Given the description of an element on the screen output the (x, y) to click on. 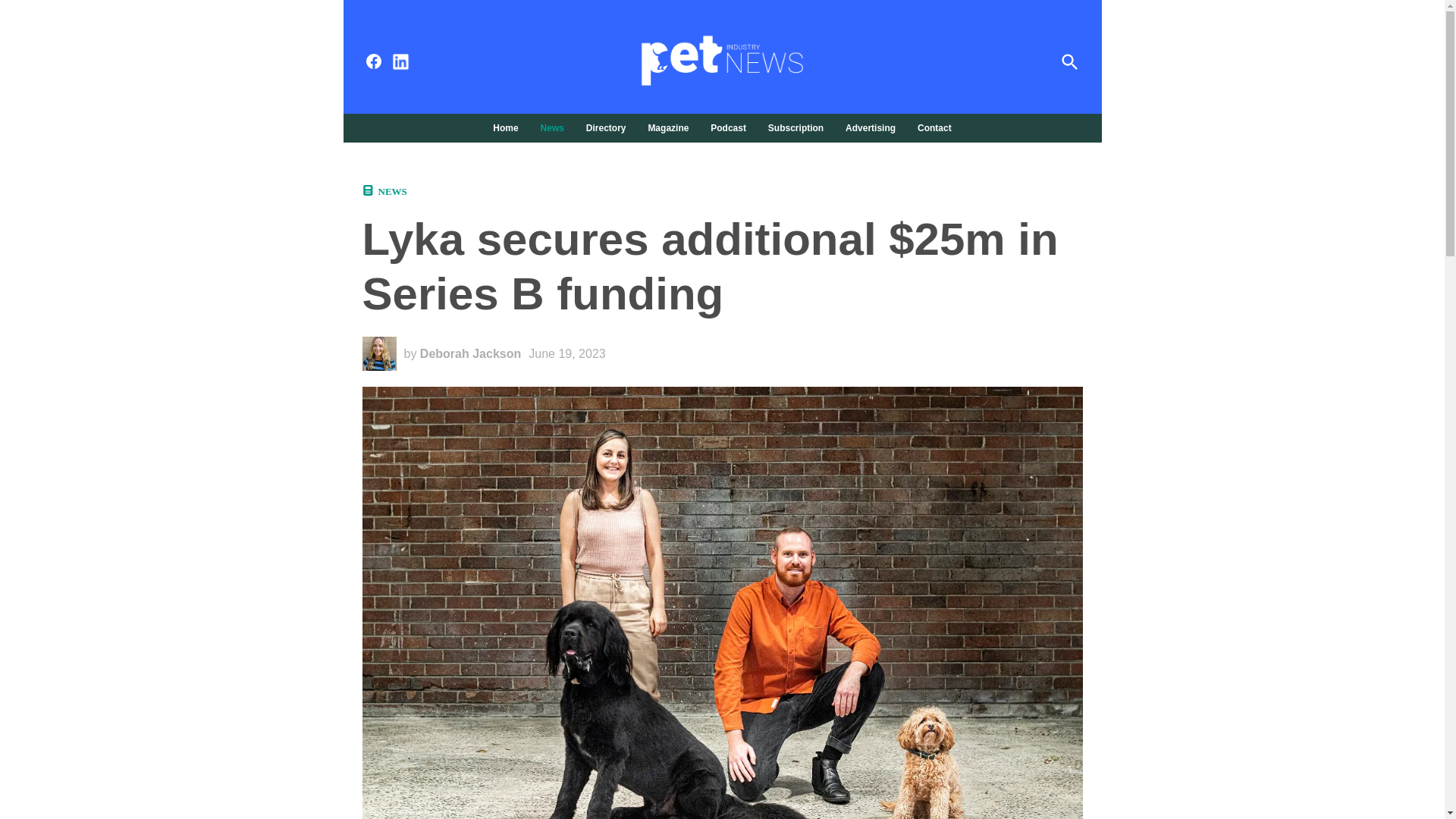
Facebook (372, 61)
Deborah Jackson (470, 353)
Podcast (728, 127)
LinkedIn (400, 61)
Home (509, 127)
NEWS (391, 190)
Advertising (870, 127)
Magazine (667, 127)
Pet Industry News (960, 71)
News (552, 127)
